Given the description of an element on the screen output the (x, y) to click on. 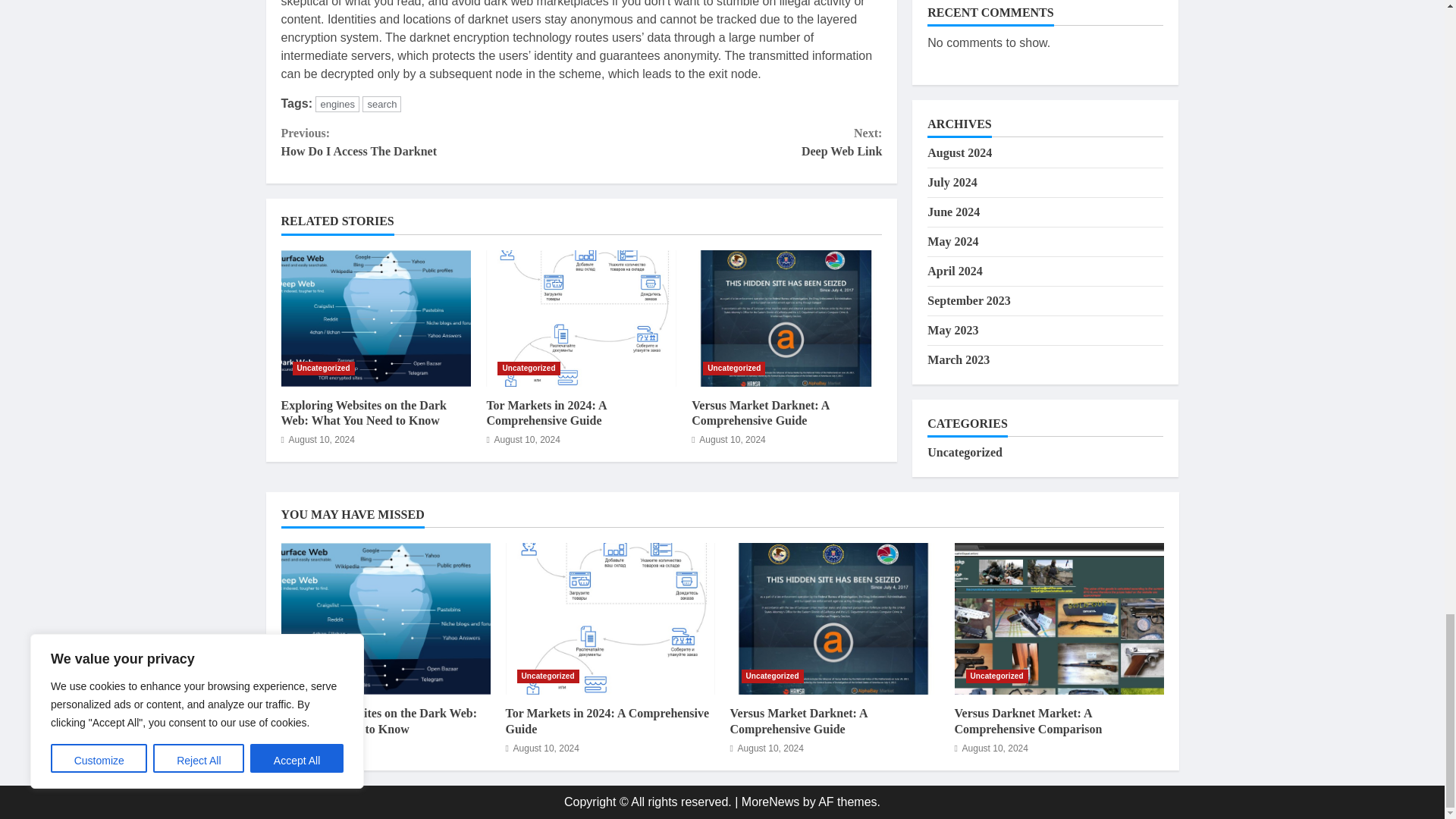
Exploring Websites on the Dark Web: What You Need to Know (363, 412)
engines (337, 104)
Exploring Websites on the Dark Web: What You Need to Know (375, 318)
Uncategorized (528, 368)
Tor Markets in 2024: A Comprehensive Guide (545, 412)
search (731, 142)
Tor Markets in 2024: A Comprehensive Guide (430, 142)
Uncategorized (381, 104)
